Given the description of an element on the screen output the (x, y) to click on. 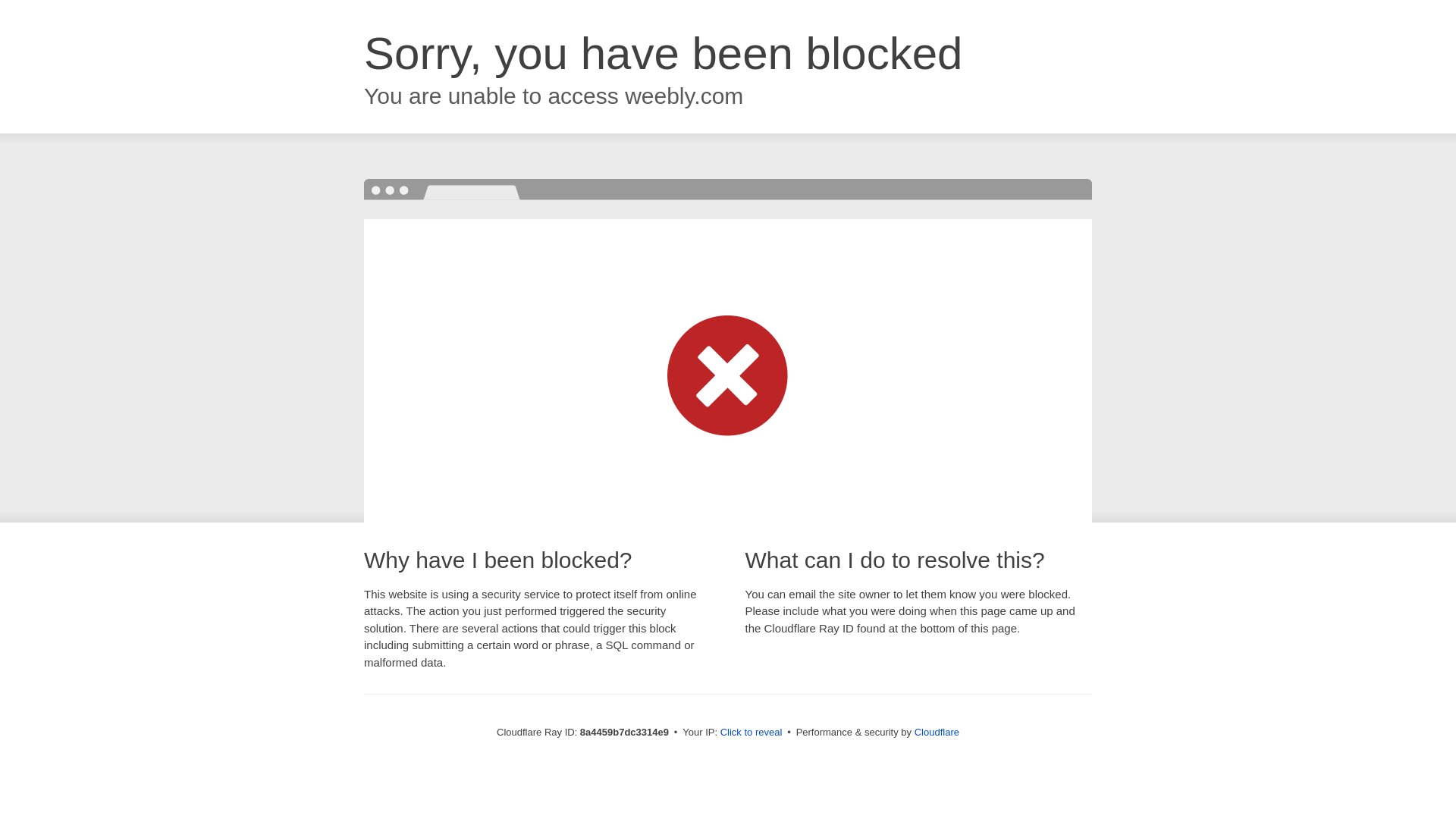
Cloudflare (936, 731)
Click to reveal (751, 732)
